Given the description of an element on the screen output the (x, y) to click on. 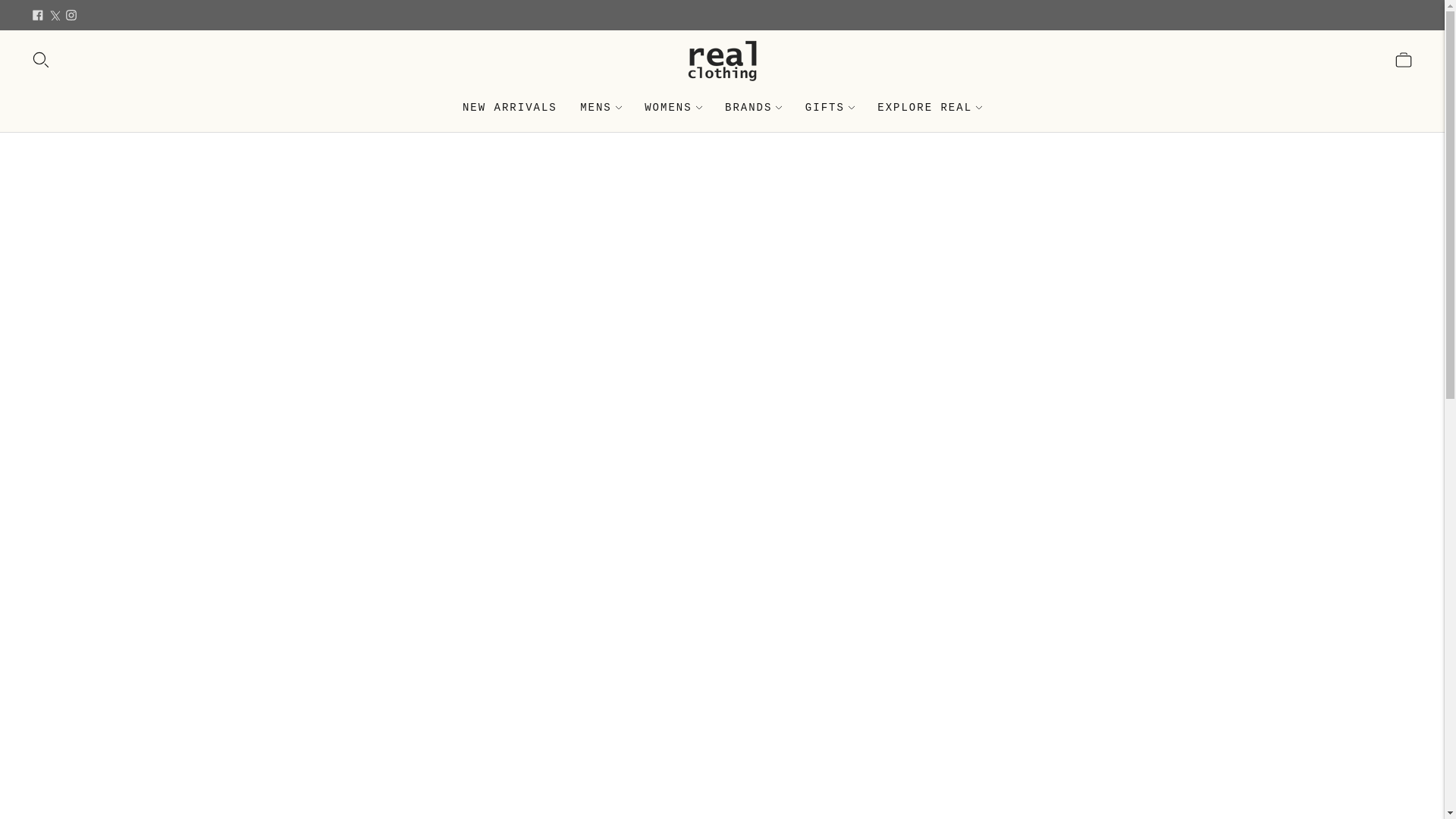
Real Clothing Southwell on Instagram (71, 14)
Real Clothing Southwell on Twitter (54, 14)
Real Clothing Southwell on Facebook (37, 14)
